Given the description of an element on the screen output the (x, y) to click on. 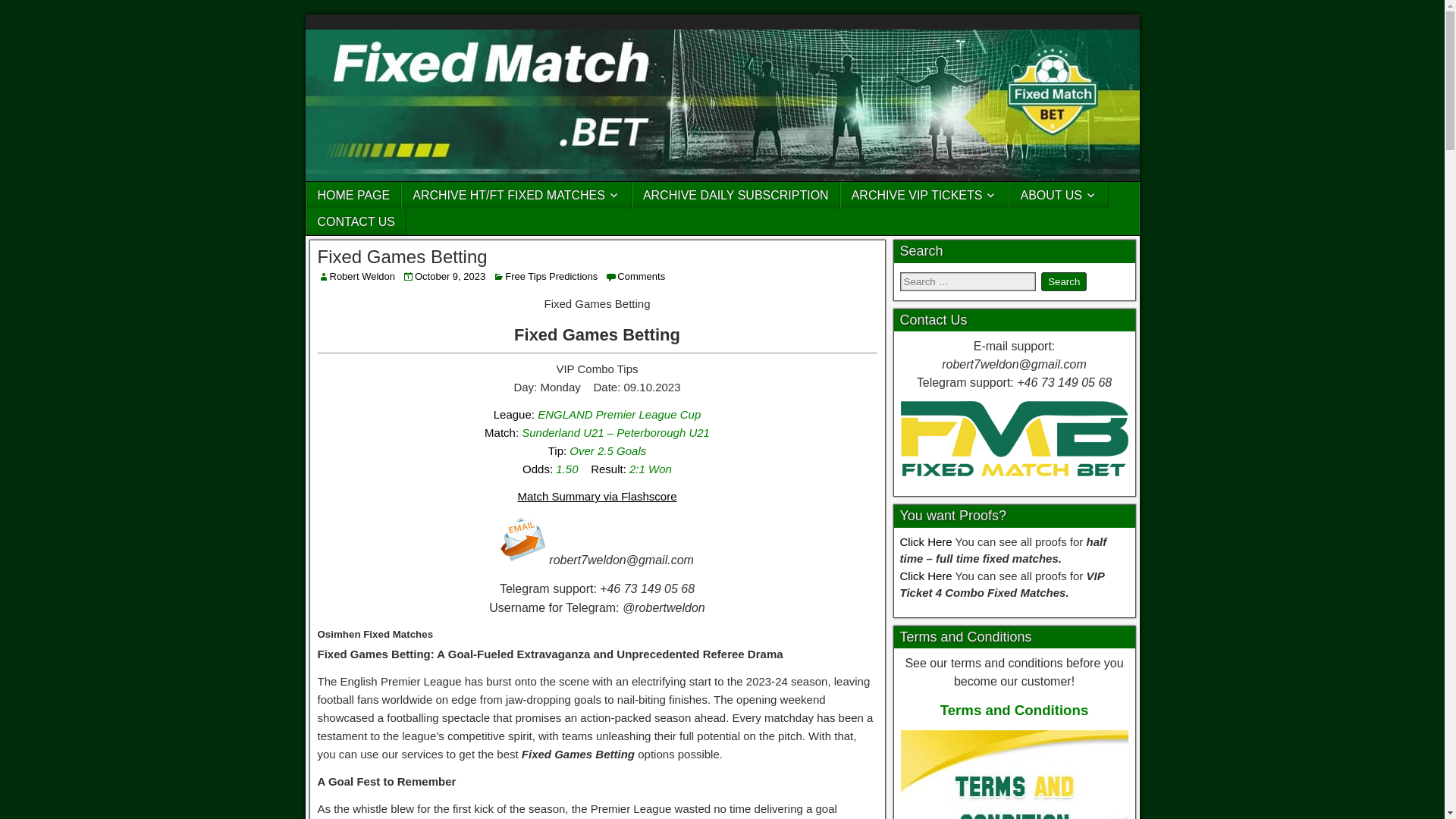
Deutch Fixed Matches (523, 539)
HOME PAGE (352, 194)
CONTACT US (355, 221)
Search (1063, 281)
Search (1063, 281)
ARCHIVE DAILY SUBSCRIPTION (735, 194)
Click Here (925, 575)
Click Here (925, 541)
Match Summary via Flashscore (596, 495)
October 9, 2023 (449, 276)
Free Tips Predictions (550, 276)
Fixed Games Betting (401, 256)
Comments (641, 276)
ABOUT US (1058, 194)
Robert Weldon (361, 276)
